Given the description of an element on the screen output the (x, y) to click on. 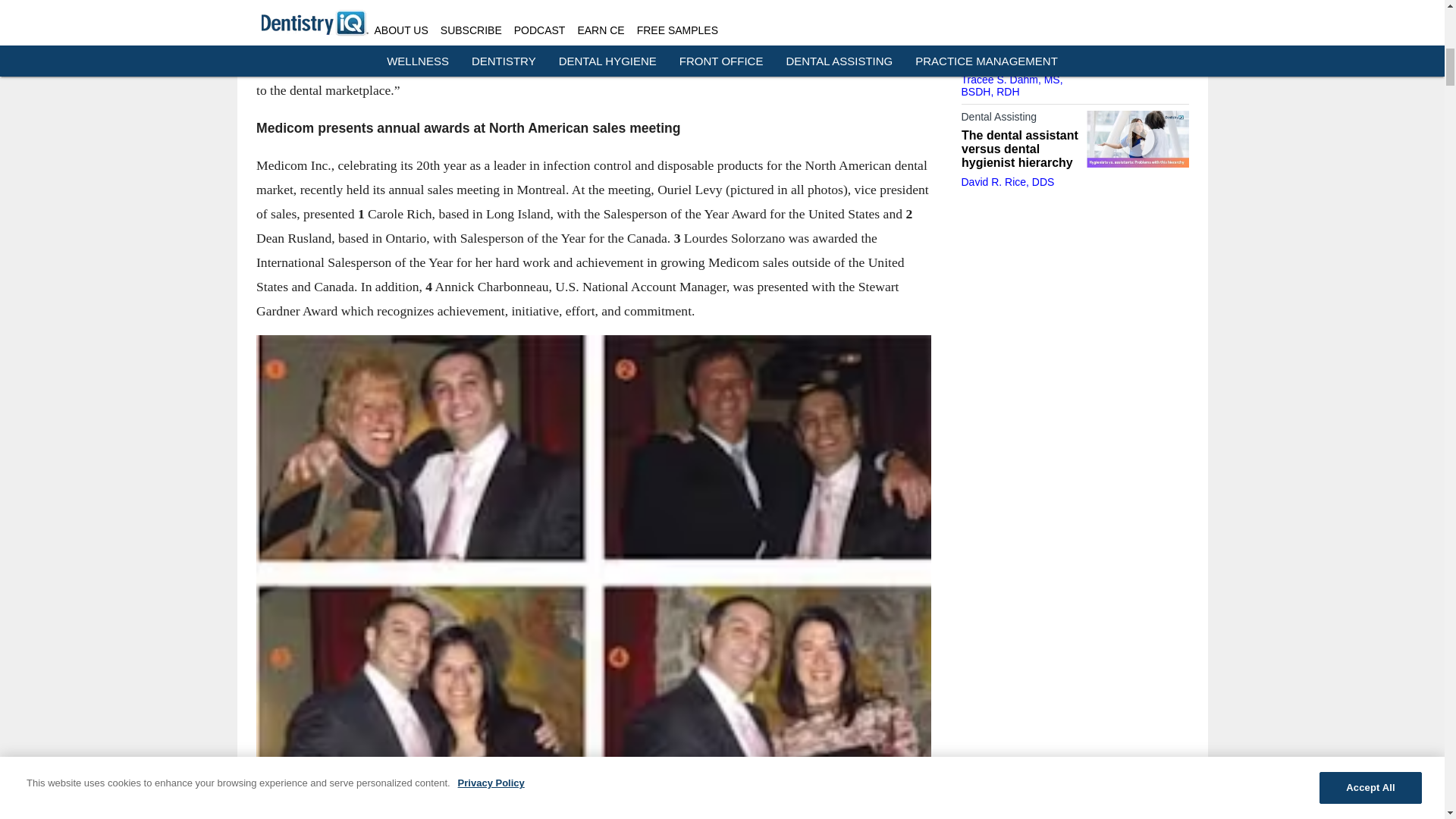
Tracee S. Dahm, MS, BSDH, RDH (1011, 85)
Periodontology (1019, 17)
The clinical benefits of periodontal desiccation (1019, 46)
